Given the description of an element on the screen output the (x, y) to click on. 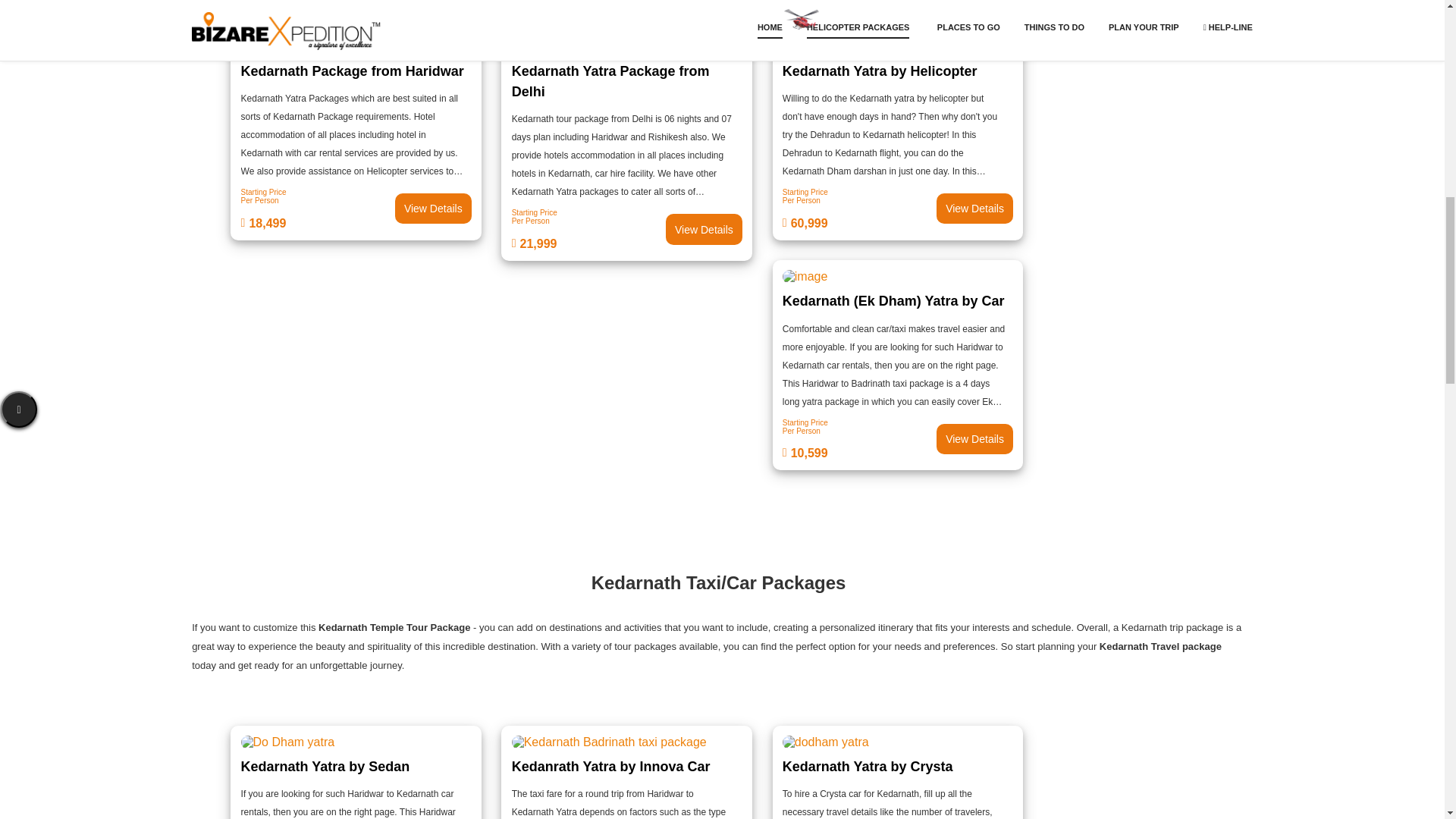
View Details (898, 438)
View Details (627, 228)
View Details (432, 208)
View Details (974, 439)
